Given the description of an element on the screen output the (x, y) to click on. 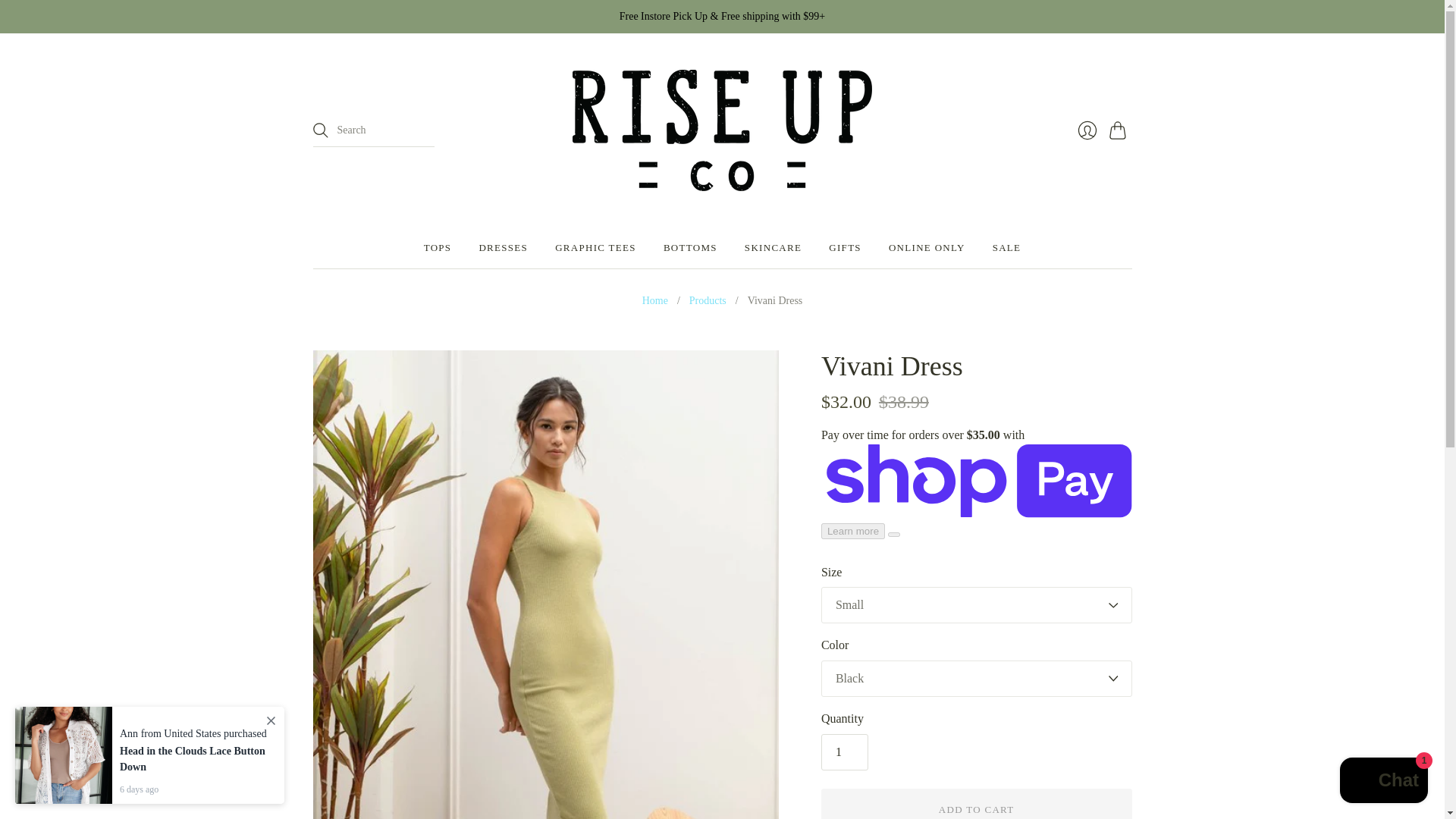
GRAPHIC TEES (595, 247)
BOTTOMS (690, 247)
ADD TO CART (976, 803)
ONLINE ONLY (926, 247)
SKINCARE (773, 247)
Cart (1119, 130)
1 (844, 751)
GIFTS (844, 247)
Login (1086, 130)
TOPS (437, 247)
Products (707, 300)
SALE (1007, 247)
Home (655, 300)
Shopify online store chat (1383, 781)
DRESSES (503, 247)
